Given the description of an element on the screen output the (x, y) to click on. 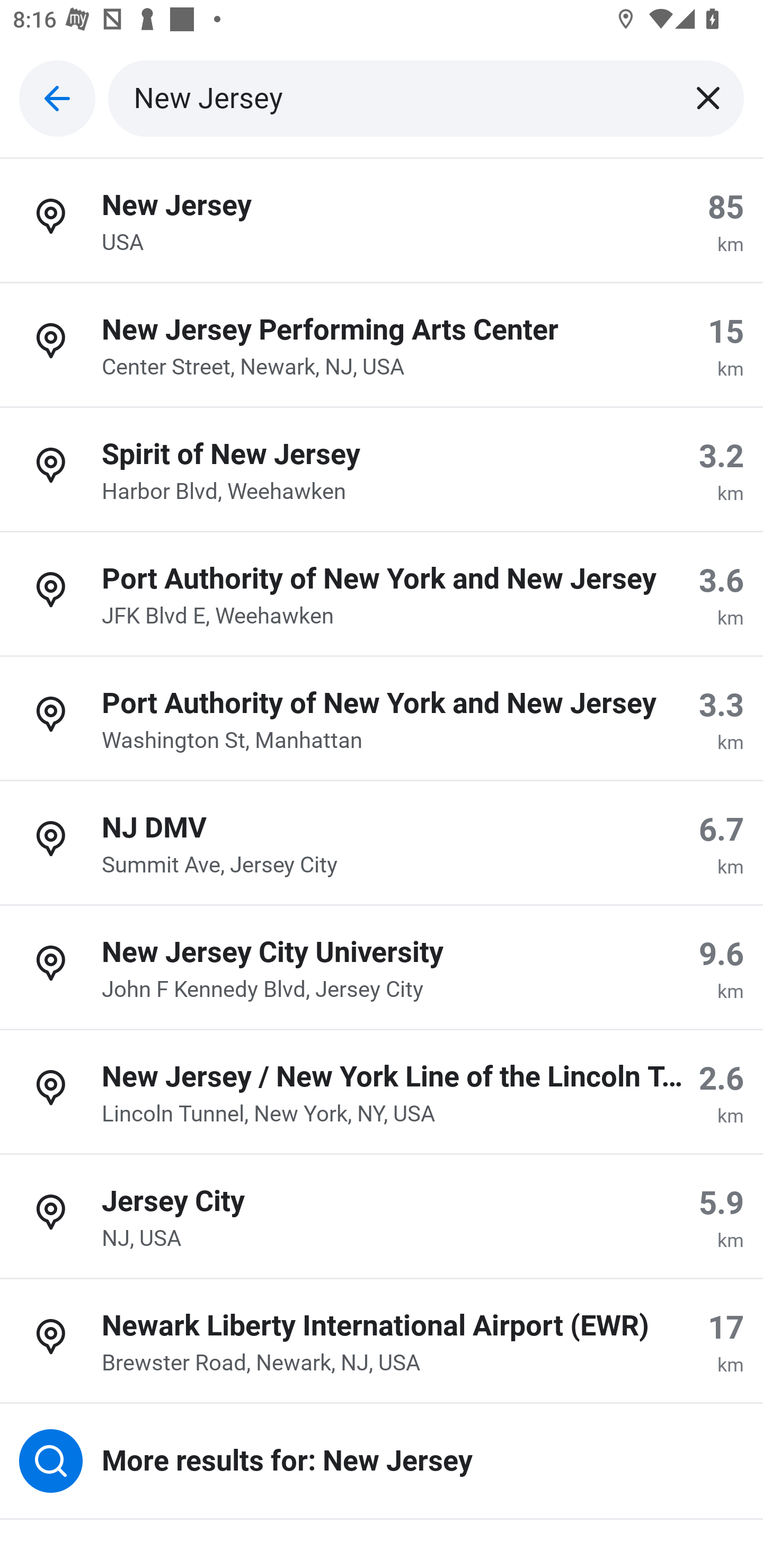
New Jersey sideMenuSearchBox (425, 98)
New Jersey USA 85 km (381, 220)
Spirit of New Jersey Harbor Blvd, Weehawken 3.2 km (381, 470)
NJ DMV Summit Ave, Jersey City 6.7 km (381, 843)
Jersey City NJ, USA 5.9 km (381, 1216)
More results for: New Jersey (381, 1461)
